Given the description of an element on the screen output the (x, y) to click on. 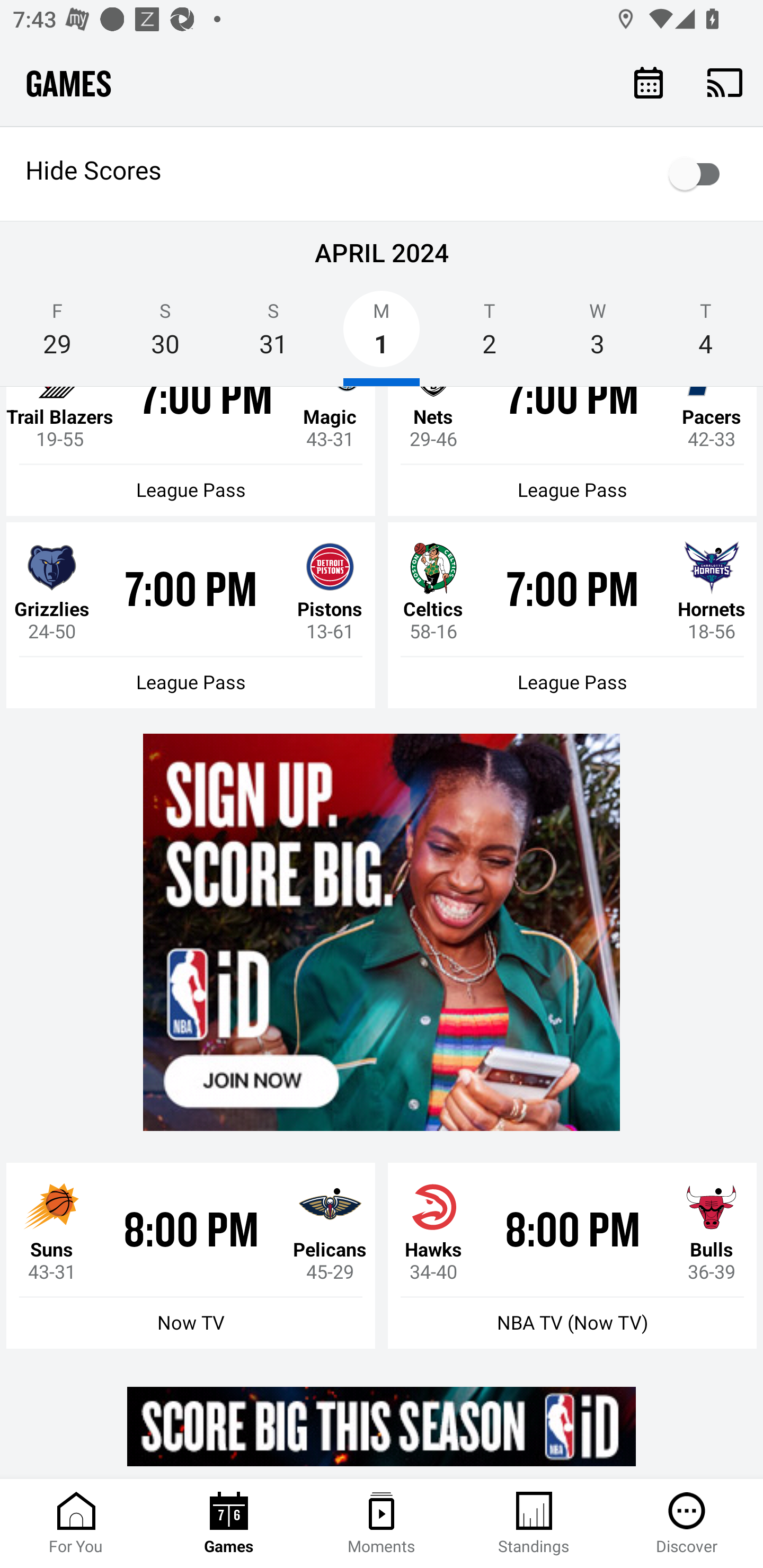
Cast. Disconnected (724, 82)
Calendar (648, 81)
Hide Scores (381, 174)
F 29 (57, 334)
S 30 (165, 334)
S 31 (273, 334)
M 1 (381, 334)
T 2 (489, 334)
W 3 (597, 334)
T 4 (705, 334)
Grizzlies 24-50 7:00 PM Pistons 13-61 League Pass (190, 615)
Celtics 58-16 7:00 PM Hornets 18-56 League Pass (571, 615)
g5nqqygr7owph (381, 931)
Suns 43-31 8:00 PM Pelicans 45-29 Now TV (190, 1255)
Hawks 34-40 8:00 PM Bulls 36-39 NBA TV (Now TV) (571, 1255)
g5nqqygr7owph (381, 1426)
For You (76, 1523)
Moments (381, 1523)
Standings (533, 1523)
Discover (686, 1523)
